Given the description of an element on the screen output the (x, y) to click on. 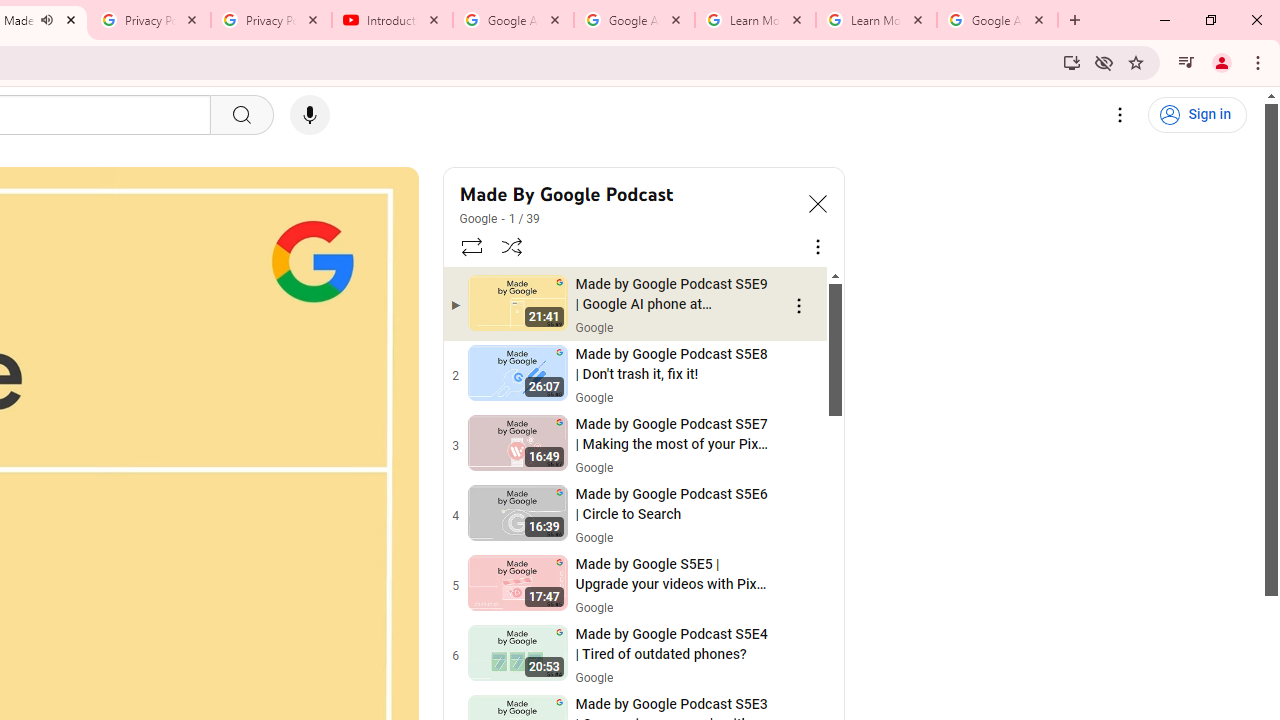
Collapse (817, 202)
